Given the description of an element on the screen output the (x, y) to click on. 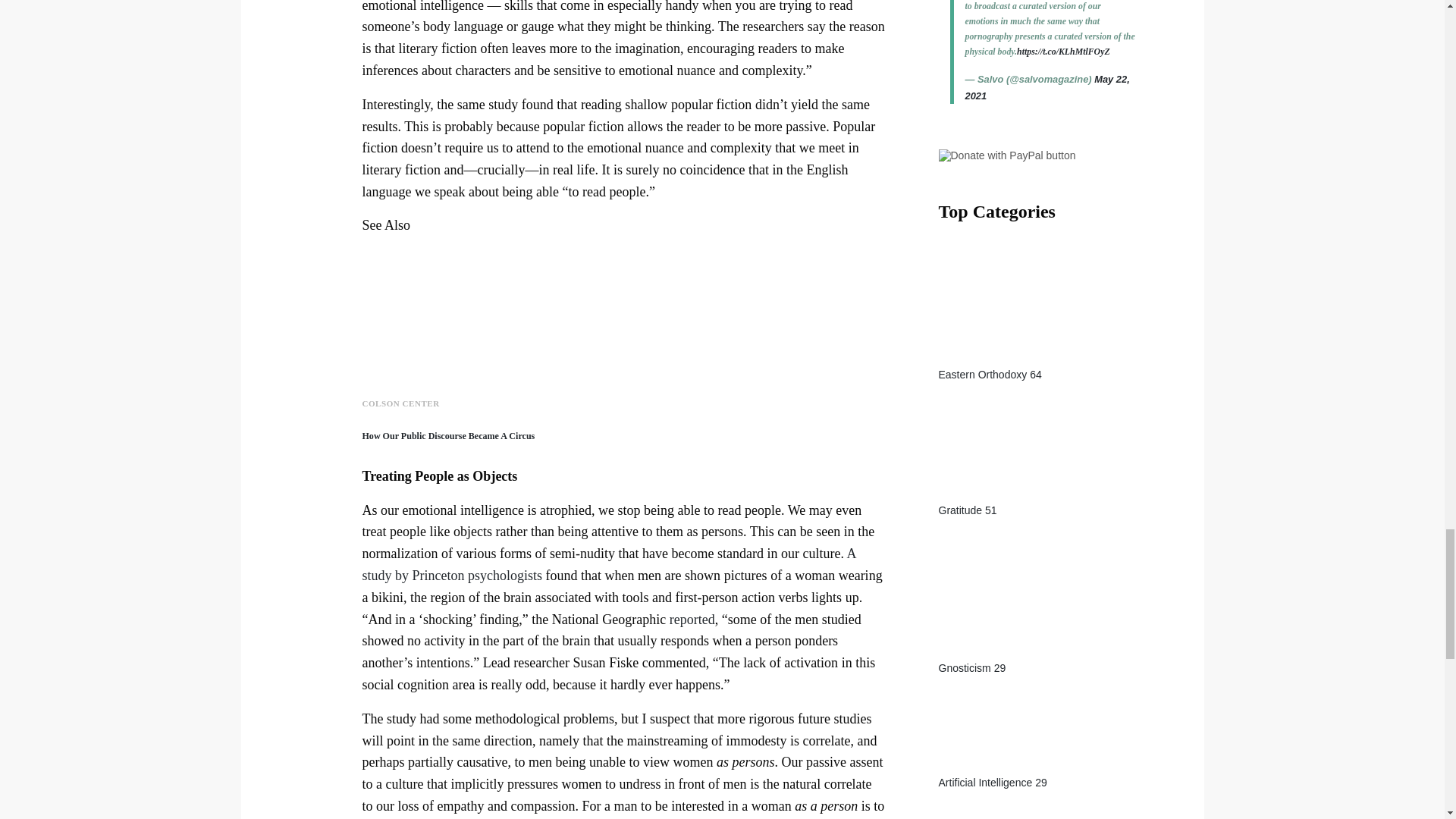
COLSON CENTER (400, 402)
How Our Public Discourse Became A Circus (448, 435)
PayPal - The safer, easier way to pay online! (1007, 155)
reported (691, 619)
How Our Public Discourse Became A Circus (448, 435)
A study by Princeton psychologists (609, 564)
